Given the description of an element on the screen output the (x, y) to click on. 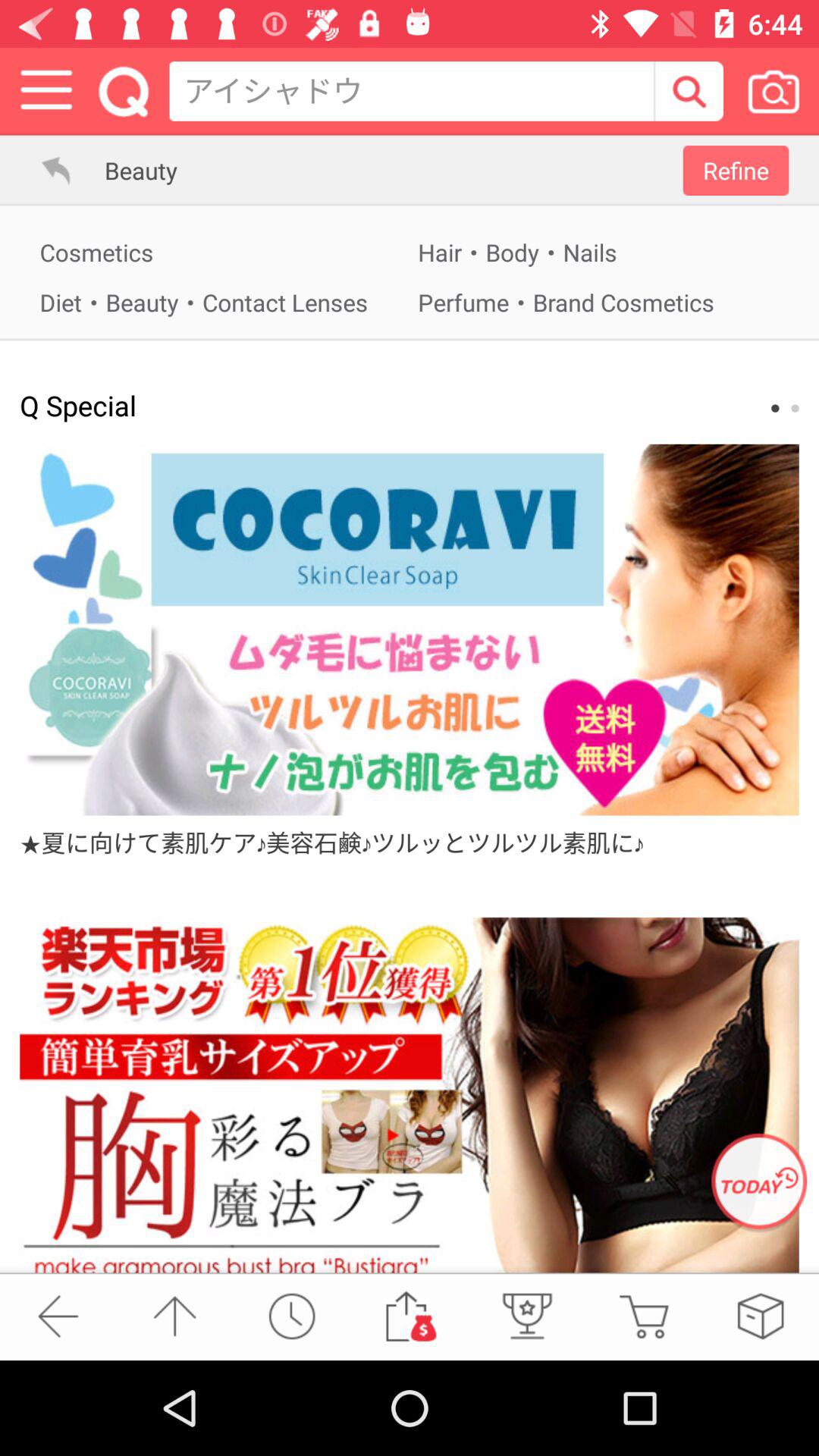
select to up arrow (174, 1316)
